Given the description of an element on the screen output the (x, y) to click on. 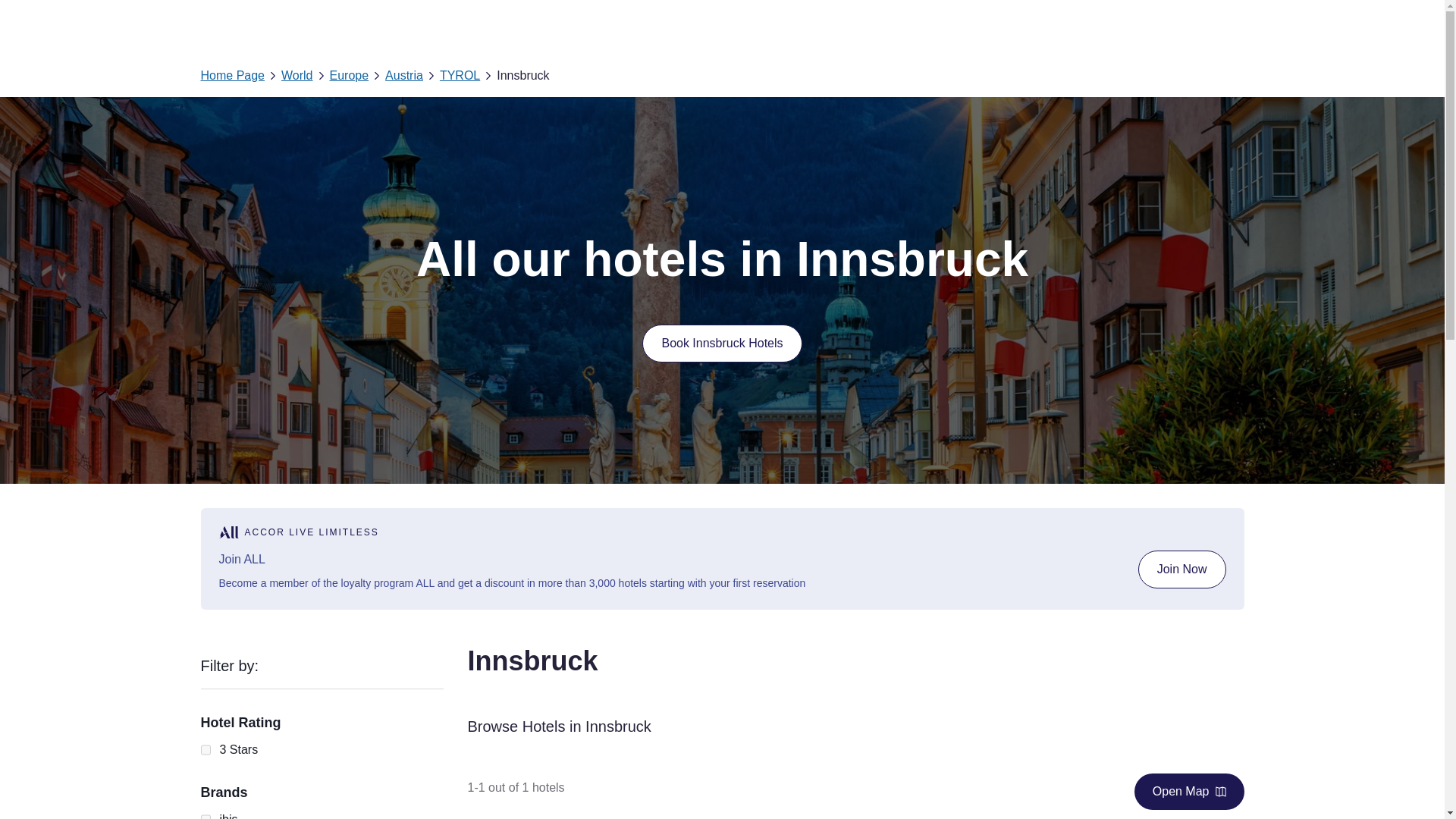
on (204, 814)
Link opens in a new tab (1181, 569)
